Given the description of an element on the screen output the (x, y) to click on. 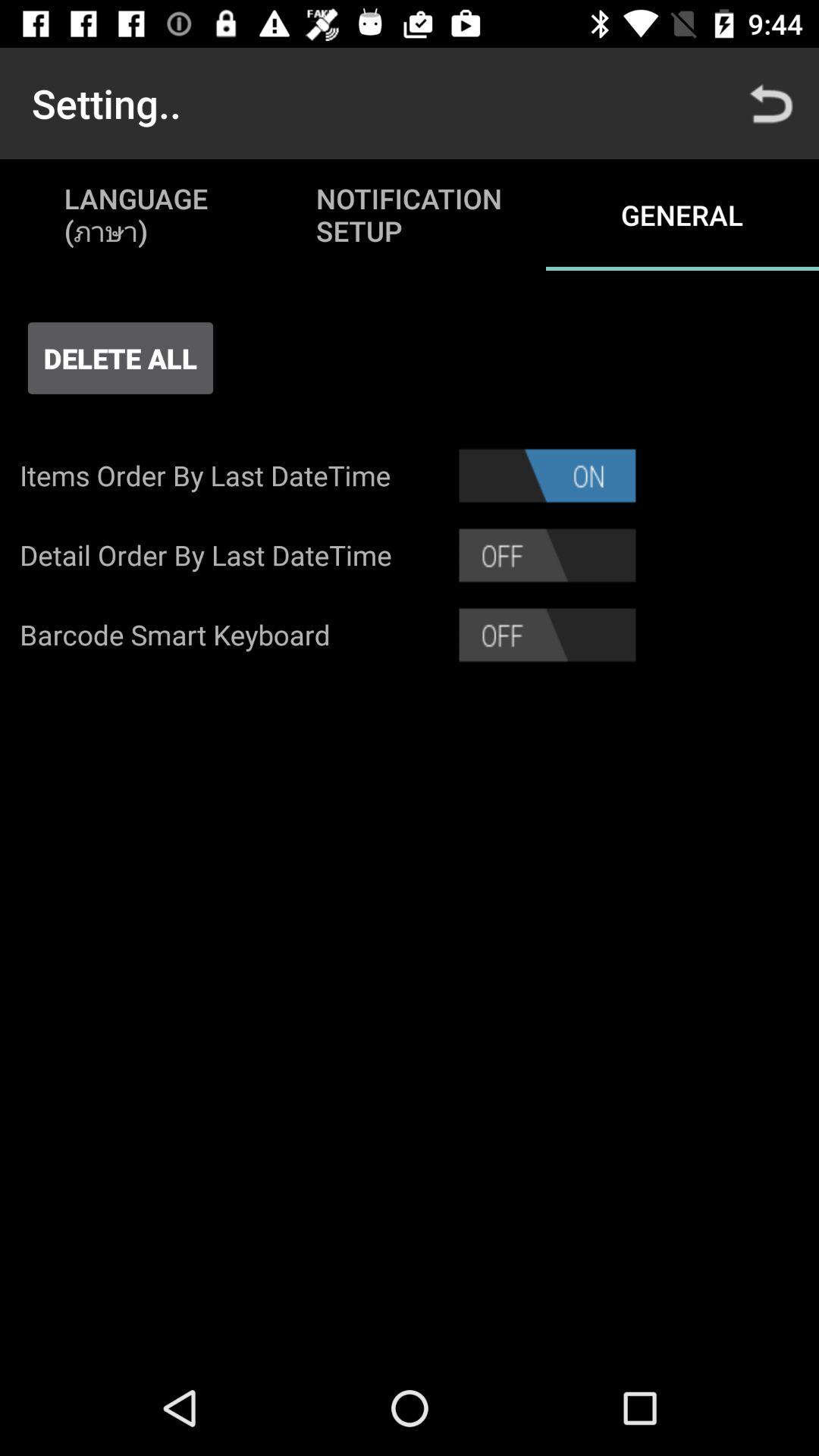
turn off icon above items order by (120, 358)
